Given the description of an element on the screen output the (x, y) to click on. 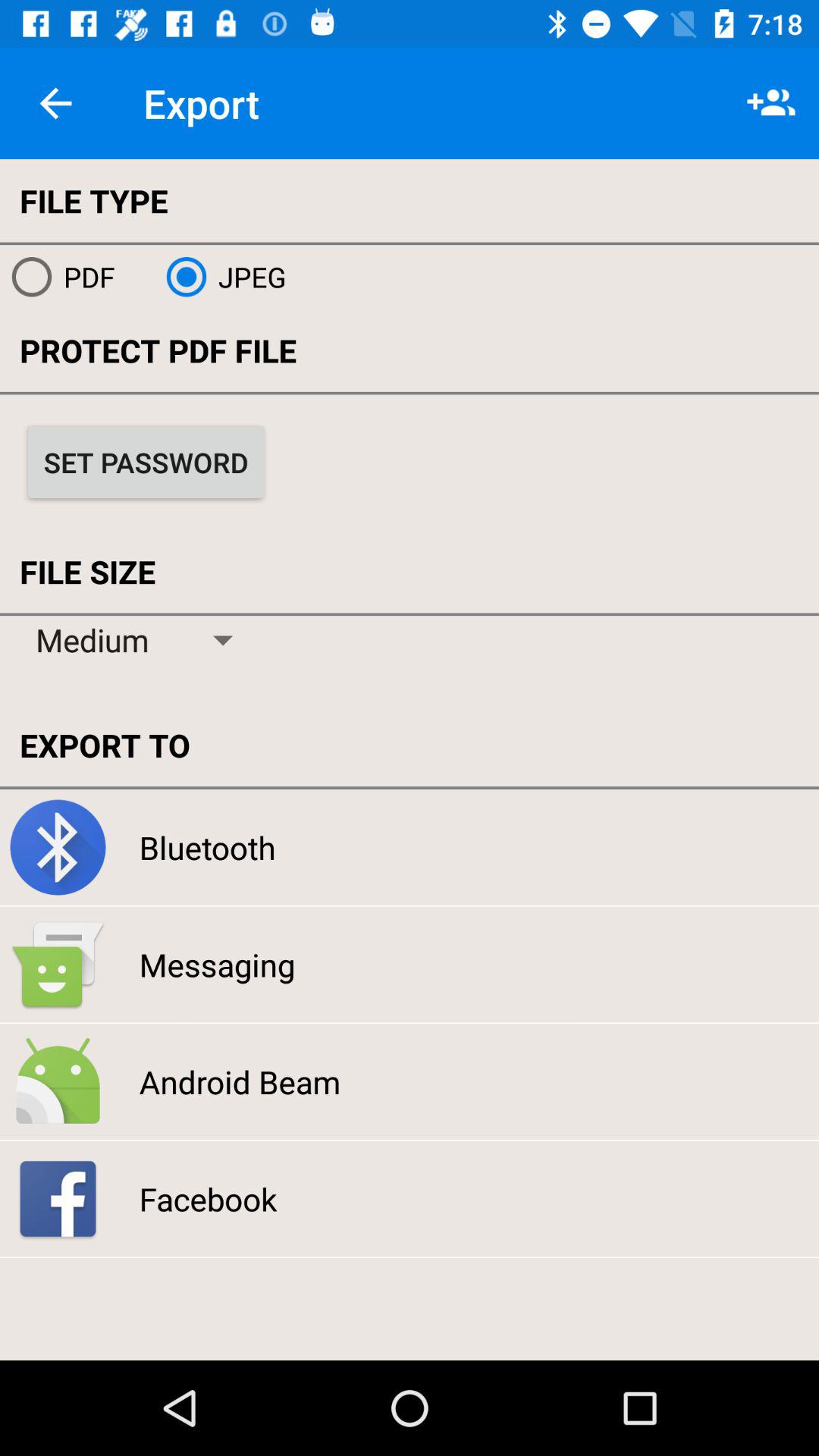
open the icon below the bluetooth (217, 964)
